Given the description of an element on the screen output the (x, y) to click on. 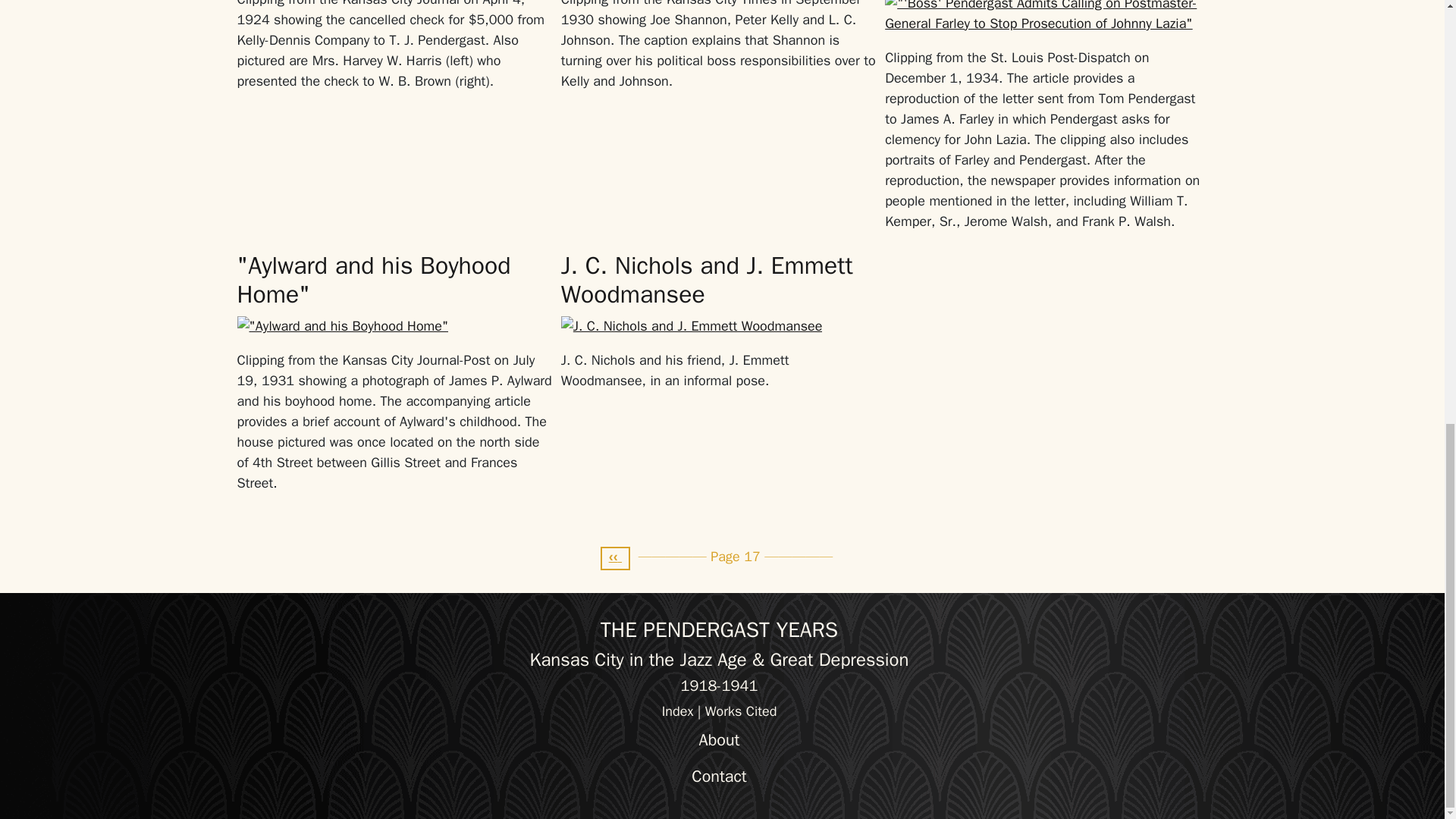
Index (678, 710)
J. C. Nichols and J. Emmett Woodmansee (706, 280)
Works Cited (740, 710)
"Aylward and his Boyhood Home" (373, 280)
Contact (718, 776)
About (718, 739)
